Given the description of an element on the screen output the (x, y) to click on. 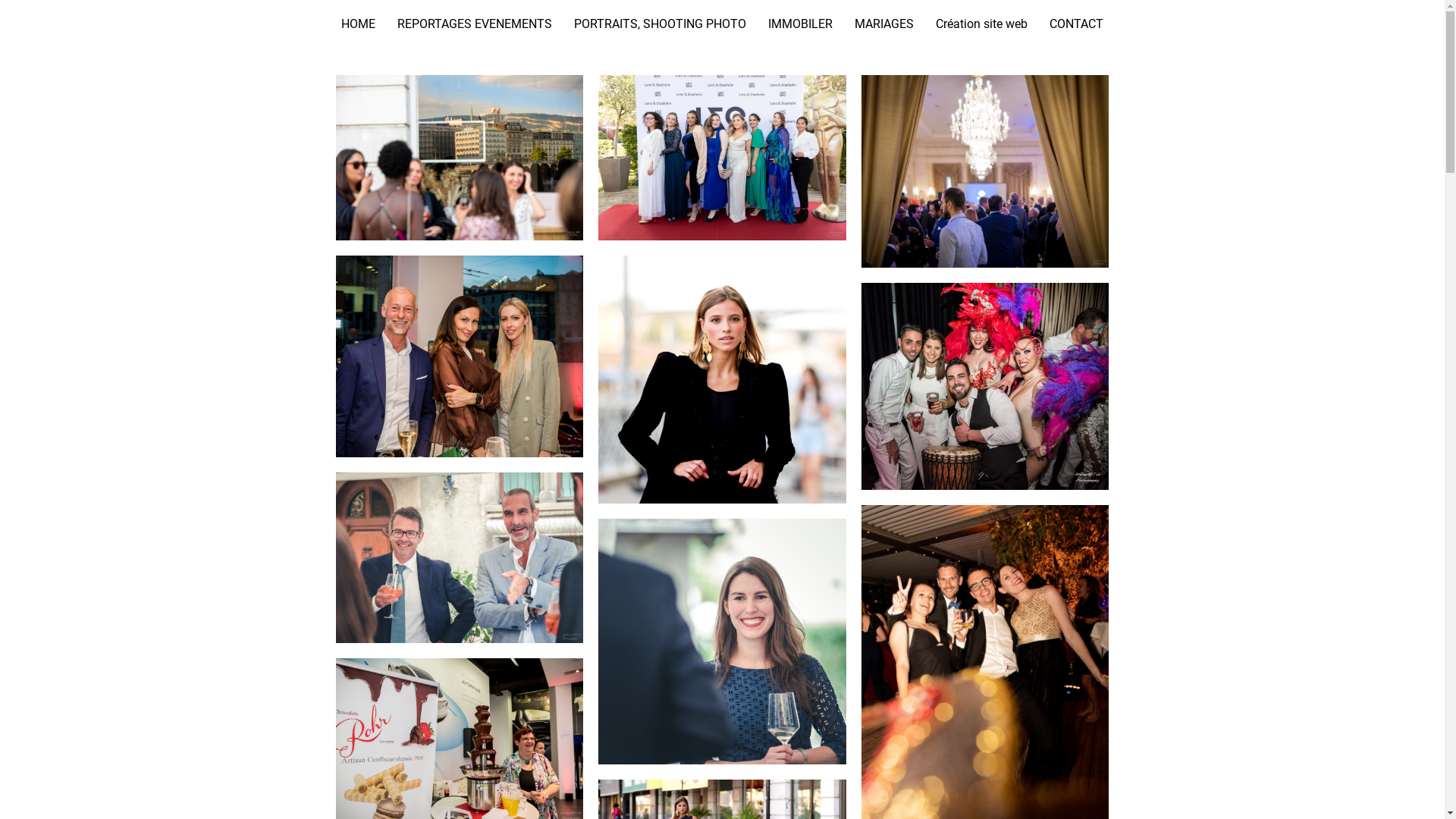
CONTACT Element type: text (1075, 23)
Bon vent Vincent 07.2020, photographe Andrey ART (32) Element type: hover (722, 641)
J.E.M event, Geneva 07.06.2023, photo Andrey ART (88) Element type: hover (722, 379)
Neventa Capital 09.10 (20) Element type: hover (985, 171)
9G2A6499 Element type: hover (985, 385)
MARIAGES Element type: text (884, 23)
Tesla reportage 4.2018 www,andreyart.ch (259) Element type: hover (459, 356)
IMMOBILER Element type: text (800, 23)
PORTRAITS, SHOOTING PHOTO Element type: text (659, 23)
REPORTAGES EVENEMENTS Element type: text (474, 23)
J.E.M event, Geneva 07.06.2023, photo Andrey ART (160) Element type: hover (459, 157)
Bon vent Vincent 07.2020, photographe Andrey ART (5) Element type: hover (459, 557)
HOME Element type: text (357, 23)
Lens & Staehelin 24.06.2023 event, photo Andrey ART (10) Element type: hover (722, 157)
